Given the description of an element on the screen output the (x, y) to click on. 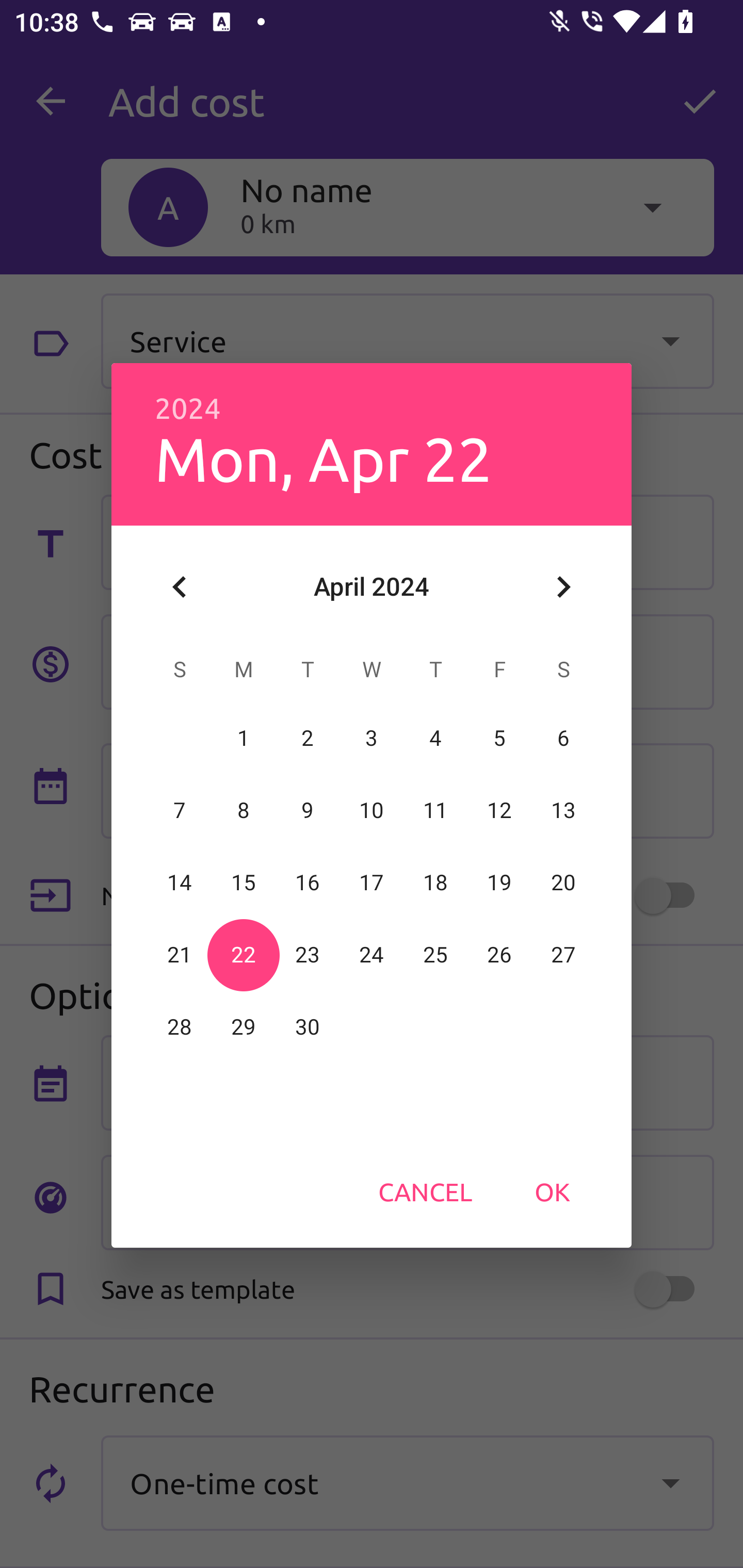
2024 (187, 408)
Mon, Apr 22 (322, 458)
Previous month (178, 587)
Next month (563, 587)
1 01 April 2024 (243, 738)
2 02 April 2024 (307, 738)
3 03 April 2024 (371, 738)
4 04 April 2024 (435, 738)
5 05 April 2024 (499, 738)
6 06 April 2024 (563, 738)
7 07 April 2024 (179, 810)
8 08 April 2024 (243, 810)
9 09 April 2024 (307, 810)
10 10 April 2024 (371, 810)
11 11 April 2024 (435, 810)
12 12 April 2024 (499, 810)
13 13 April 2024 (563, 810)
14 14 April 2024 (179, 882)
15 15 April 2024 (243, 882)
16 16 April 2024 (307, 882)
17 17 April 2024 (371, 882)
18 18 April 2024 (435, 882)
19 19 April 2024 (499, 882)
20 20 April 2024 (563, 882)
21 21 April 2024 (179, 954)
22 22 April 2024 (243, 954)
23 23 April 2024 (307, 954)
24 24 April 2024 (371, 954)
25 25 April 2024 (435, 954)
26 26 April 2024 (499, 954)
27 27 April 2024 (563, 954)
28 28 April 2024 (179, 1026)
29 29 April 2024 (243, 1026)
30 30 April 2024 (307, 1026)
CANCEL (425, 1191)
OK (552, 1191)
